Given the description of an element on the screen output the (x, y) to click on. 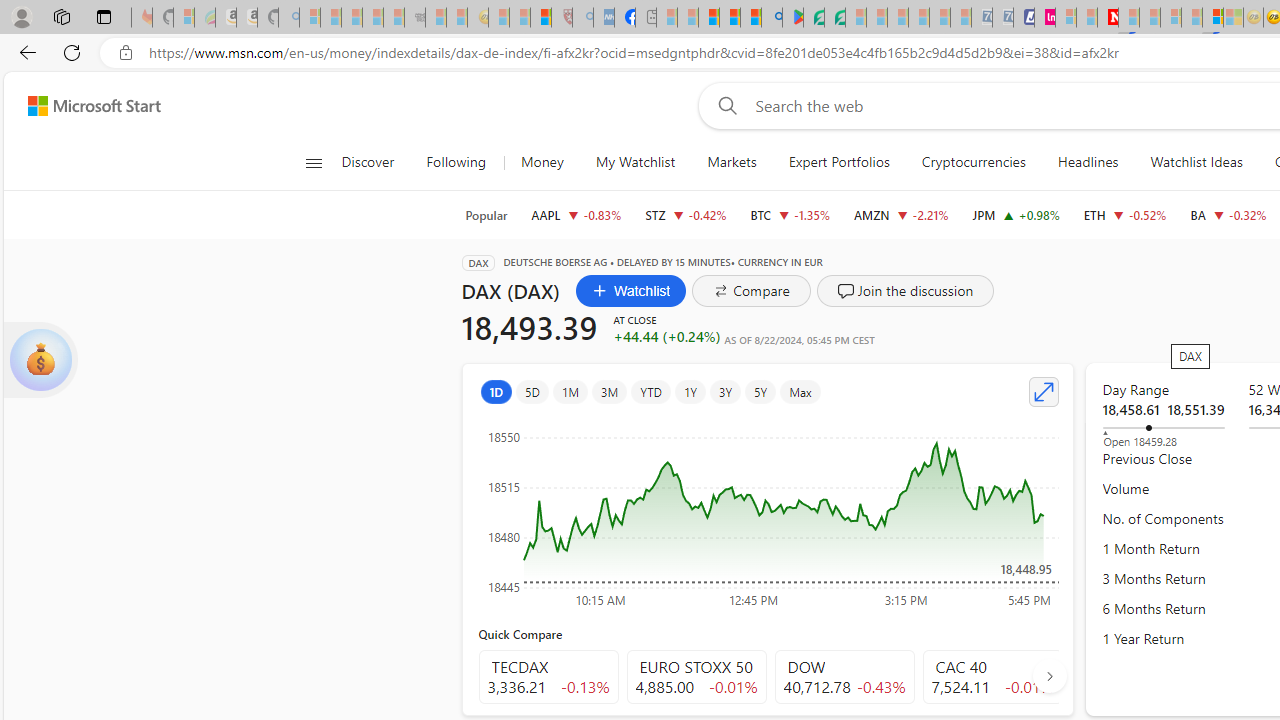
Bluey: Let's Play! - Apps on Google Play (792, 17)
My Watchlist (635, 162)
Watchlist Ideas (1195, 162)
Watchlist (630, 290)
AutomationID: finance_carousel_navi_arrow (1049, 676)
JPM JPMORGAN CHASE & CO. increase 216.71 +2.11 +0.98% (1016, 214)
Watchlist Ideas (1196, 162)
